Given the description of an element on the screen output the (x, y) to click on. 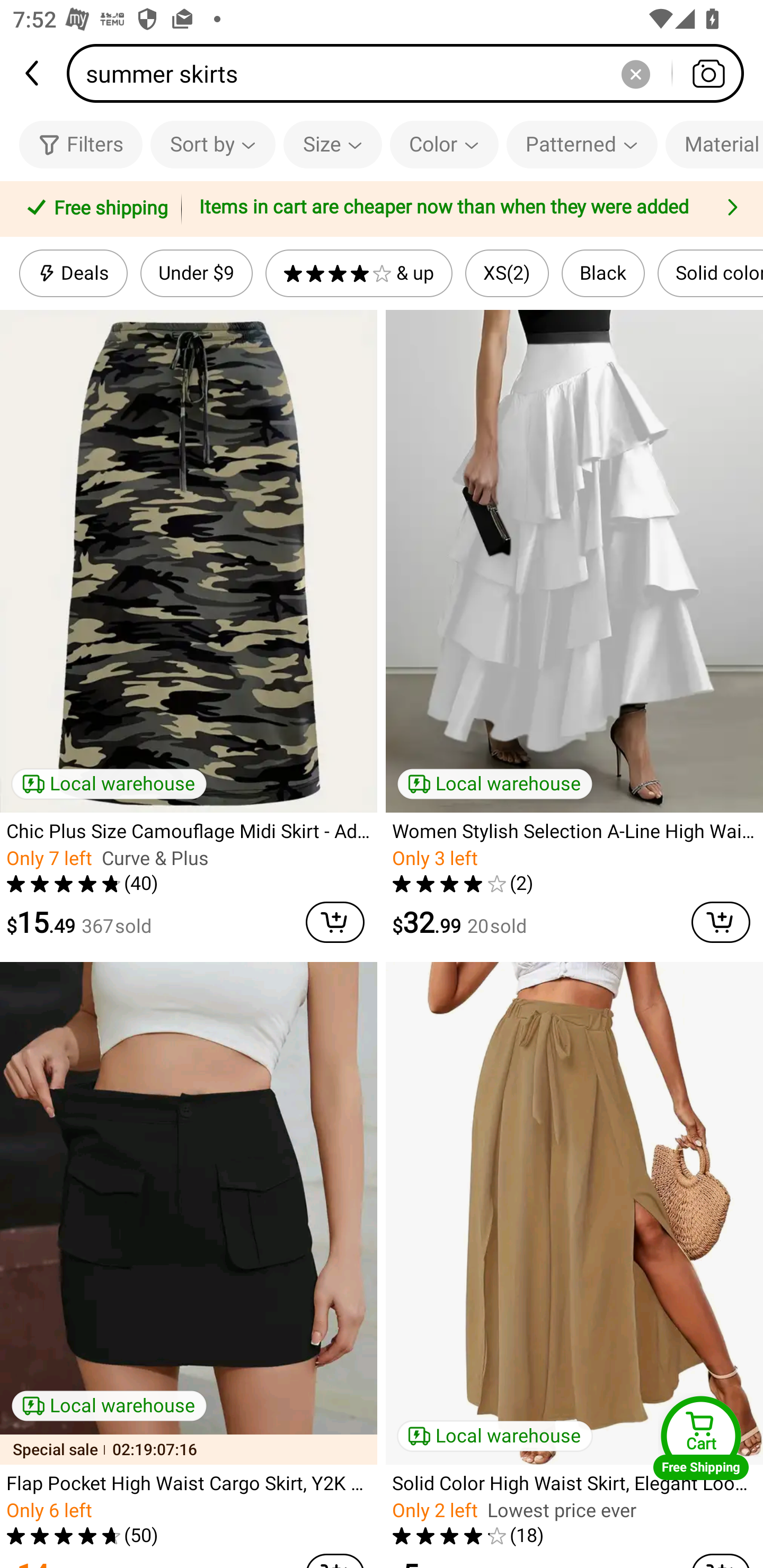
back (33, 72)
summer skirts (411, 73)
Delete search history (635, 73)
Search by photo (708, 73)
Filters (80, 143)
Sort by (212, 143)
Size (332, 143)
Color (443, 143)
Patterned (581, 143)
Material (714, 143)
 Free shipping (93, 208)
Deals (73, 273)
Under $9 (196, 273)
& up (358, 273)
XS(2) (506, 273)
Black (602, 273)
Solid color (710, 273)
Cart Free Shipping Cart (701, 1437)
